Given the description of an element on the screen output the (x, y) to click on. 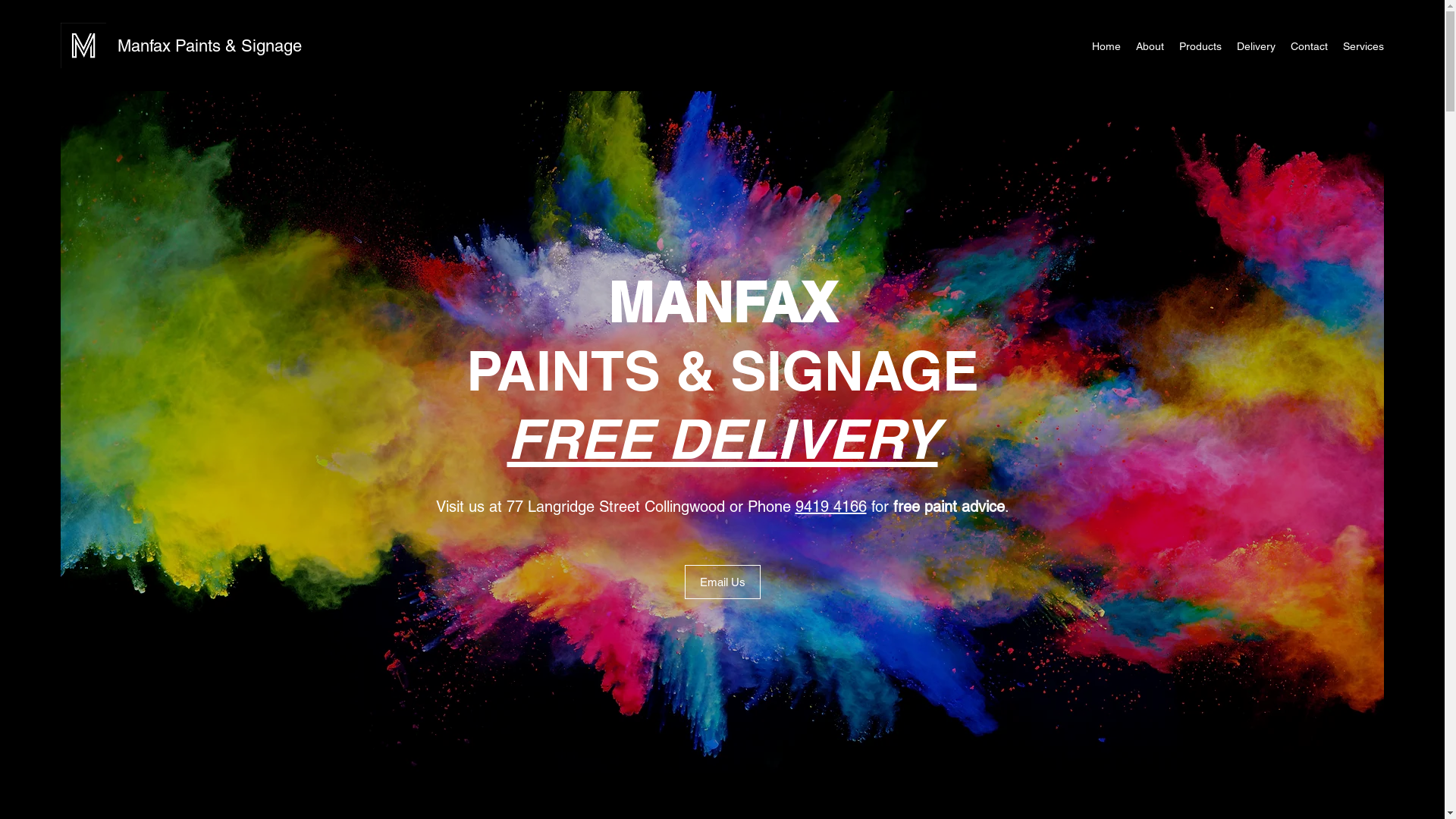
9419 4166 Element type: text (830, 506)
Home Element type: text (1106, 45)
Contact Element type: text (1309, 45)
About Element type: text (1149, 45)
Email Us Element type: text (721, 581)
Services Element type: text (1363, 45)
Manfax Paints & Signage Element type: text (209, 45)
Delivery Element type: text (1256, 45)
Products Element type: text (1200, 45)
FREE DELIVERY Element type: text (721, 438)
